Given the description of an element on the screen output the (x, y) to click on. 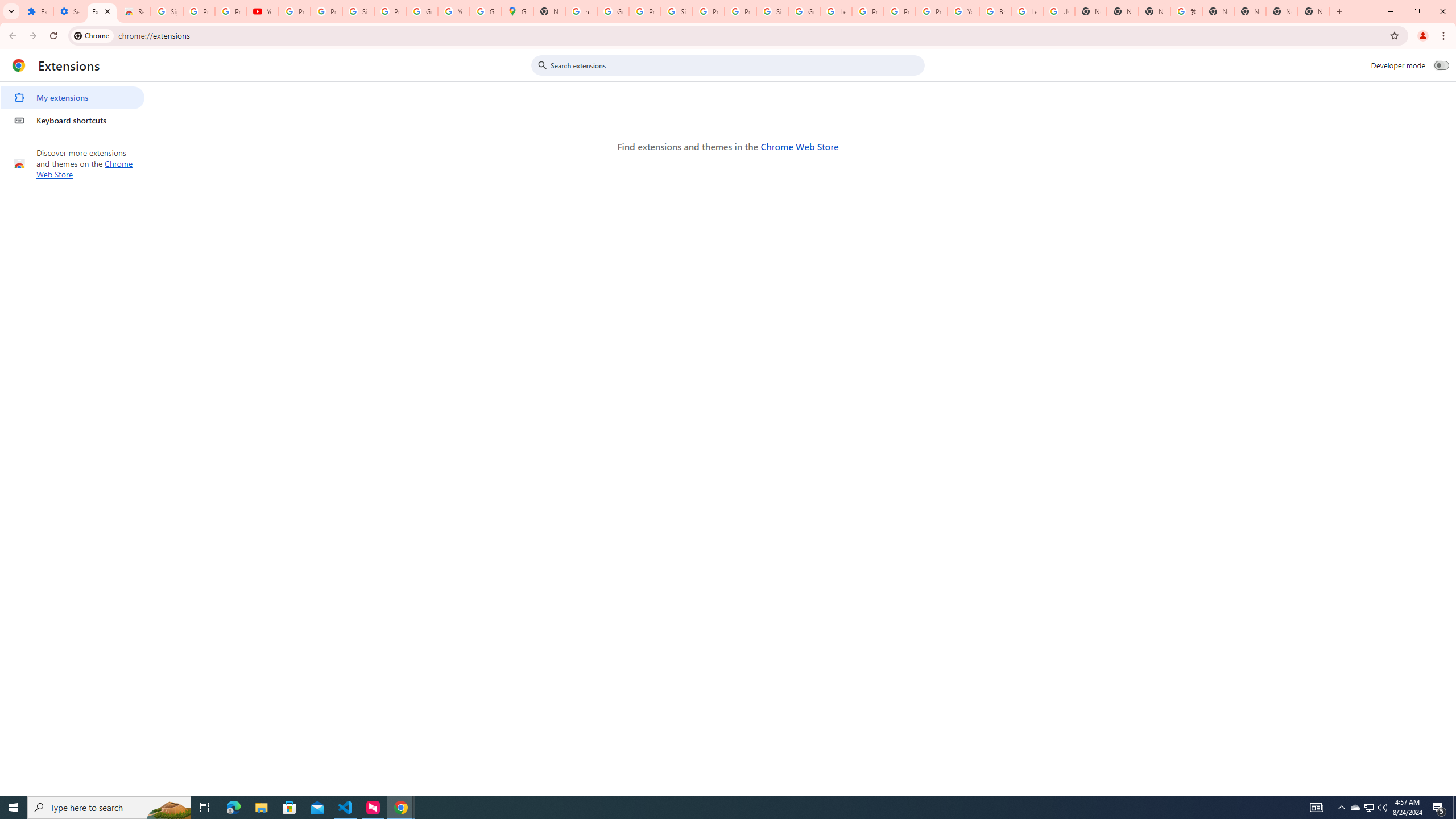
Sign in - Google Accounts (358, 11)
New Tab (1313, 11)
Keyboard shortcuts (72, 119)
Developer mode (1442, 64)
Sign in - Google Accounts (772, 11)
